Given the description of an element on the screen output the (x, y) to click on. 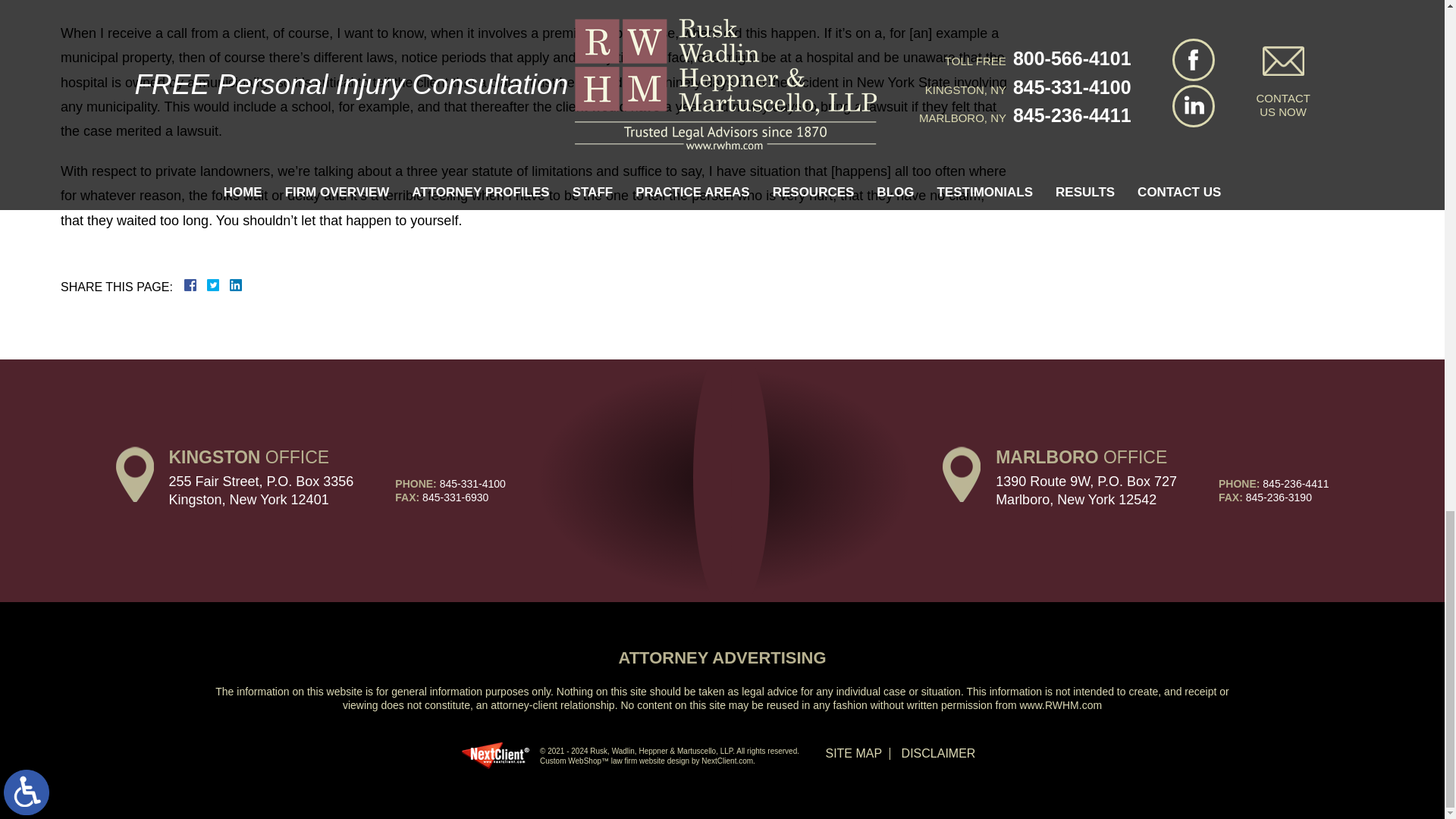
LinkedIn (229, 285)
Twitter (219, 285)
Facebook (208, 285)
